Given the description of an element on the screen output the (x, y) to click on. 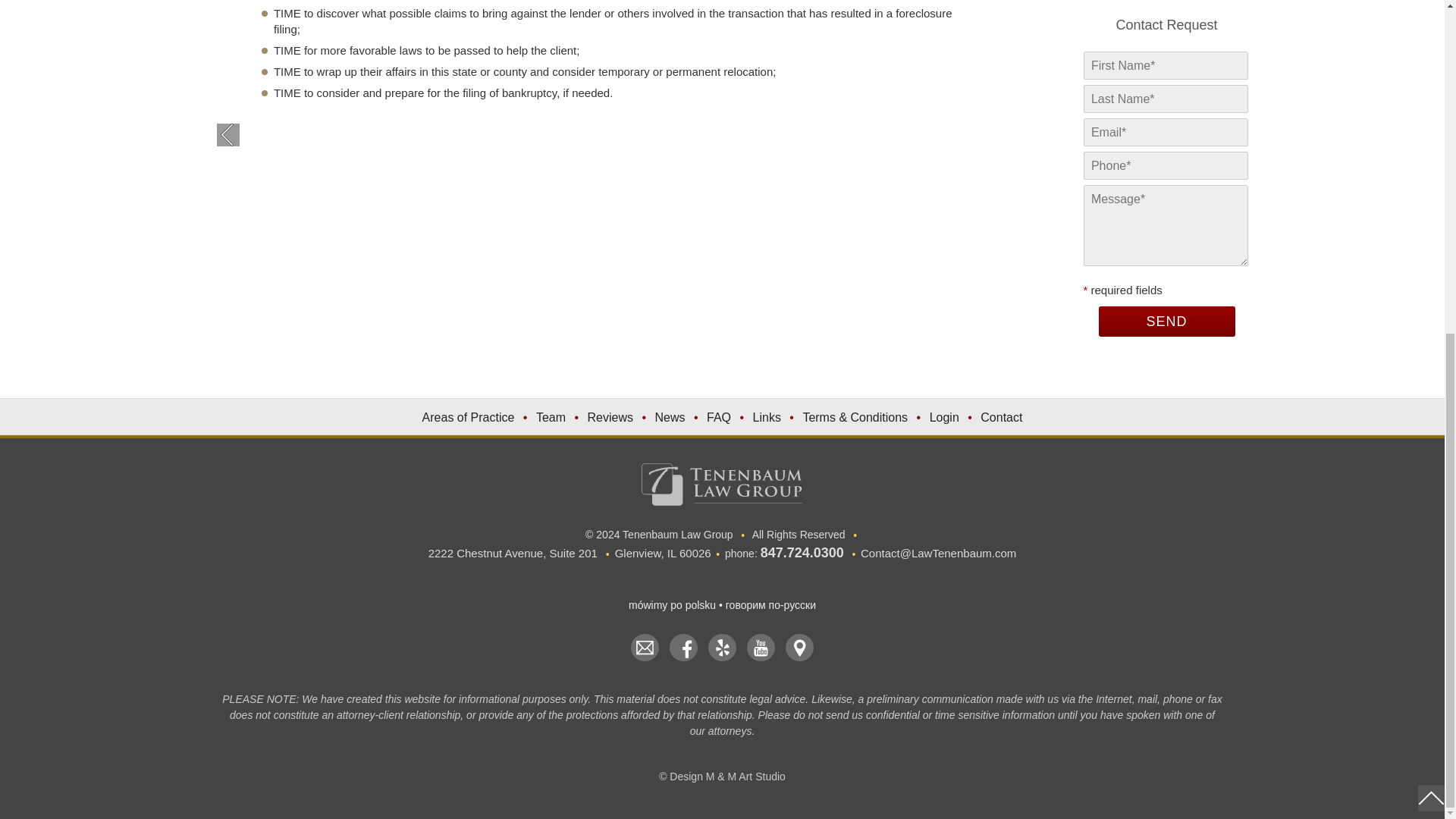
Return to the previous page (228, 134)
SEND (1165, 321)
Star Development Corporation (799, 646)
